Given the description of an element on the screen output the (x, y) to click on. 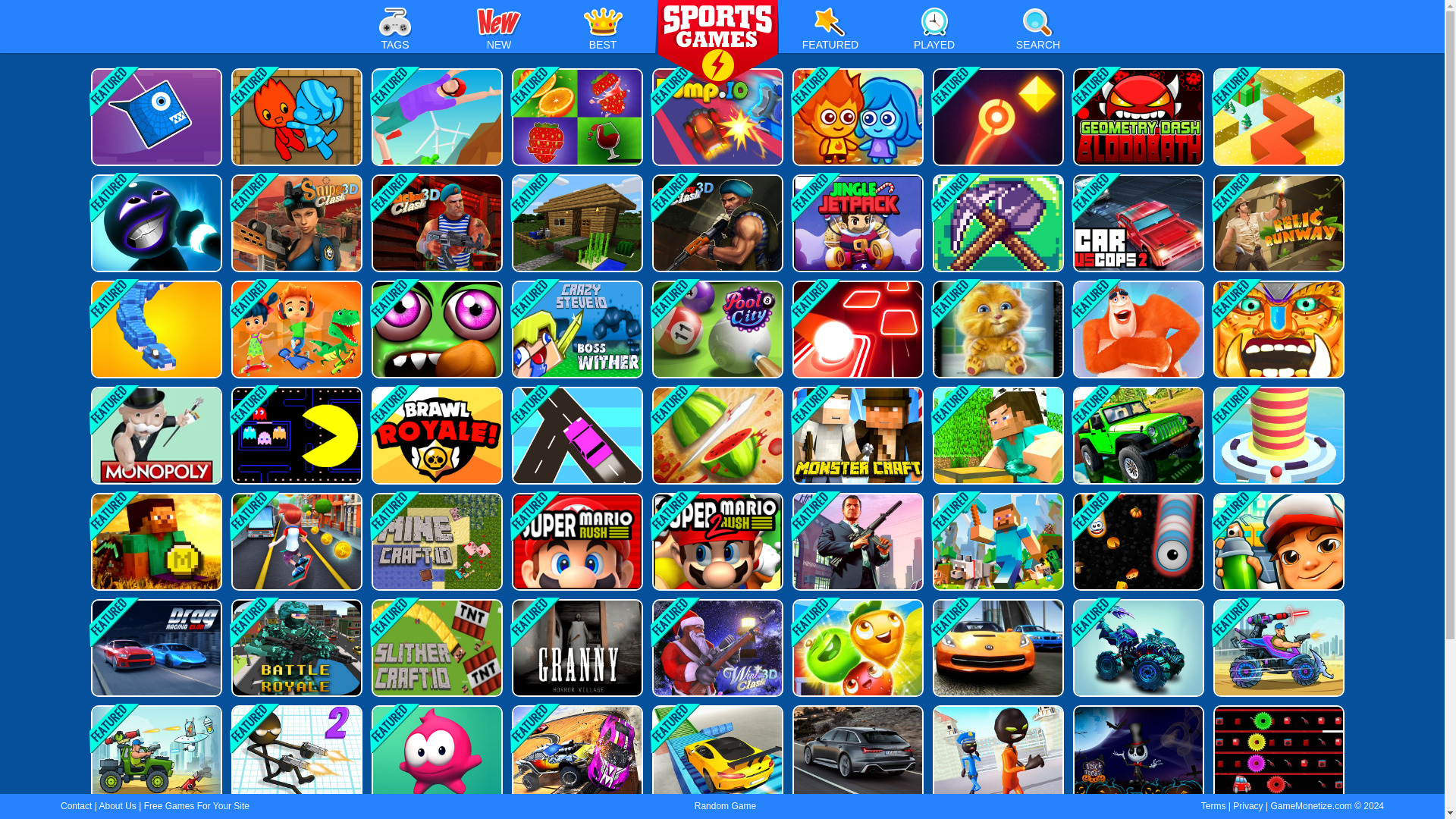
FEATURED (829, 33)
BEST (601, 33)
TAGS (394, 33)
PLAYED (934, 33)
SEARCH (1037, 33)
PLAY BEST FREE GAMES ONLINE (716, 43)
NEW (498, 33)
